Given the description of an element on the screen output the (x, y) to click on. 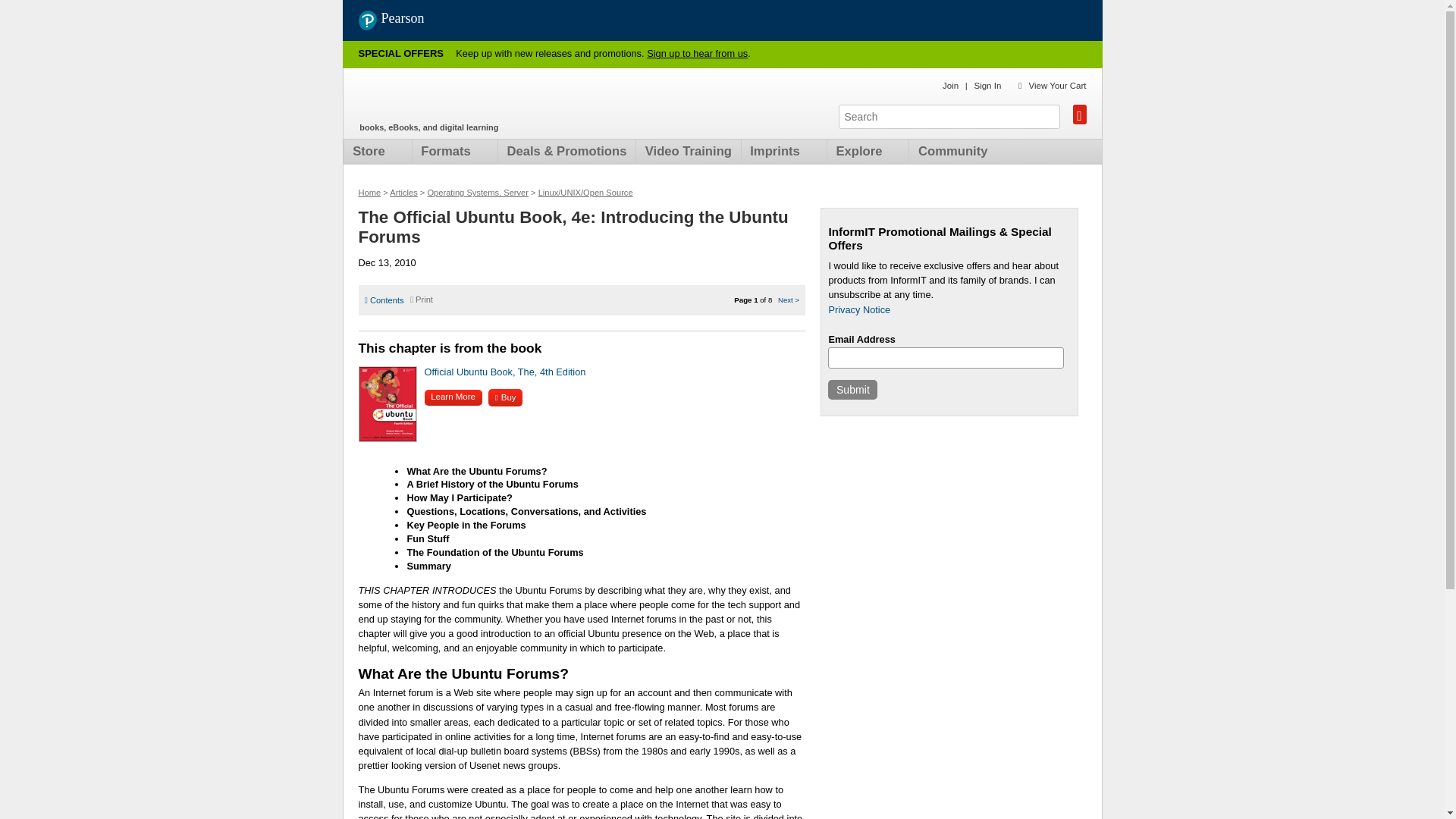
Home (446, 98)
Learn More (453, 397)
Sign up to hear from us (697, 52)
Submit (852, 389)
Privacy Notice (858, 309)
Sign In (987, 85)
Articles (403, 192)
Official Ubuntu Book, The, 4th Edition (505, 371)
View Your Cart (1057, 85)
Home (369, 192)
Print (421, 298)
Operating Systems, Server (477, 192)
Submit (852, 389)
Join (950, 85)
